Given the description of an element on the screen output the (x, y) to click on. 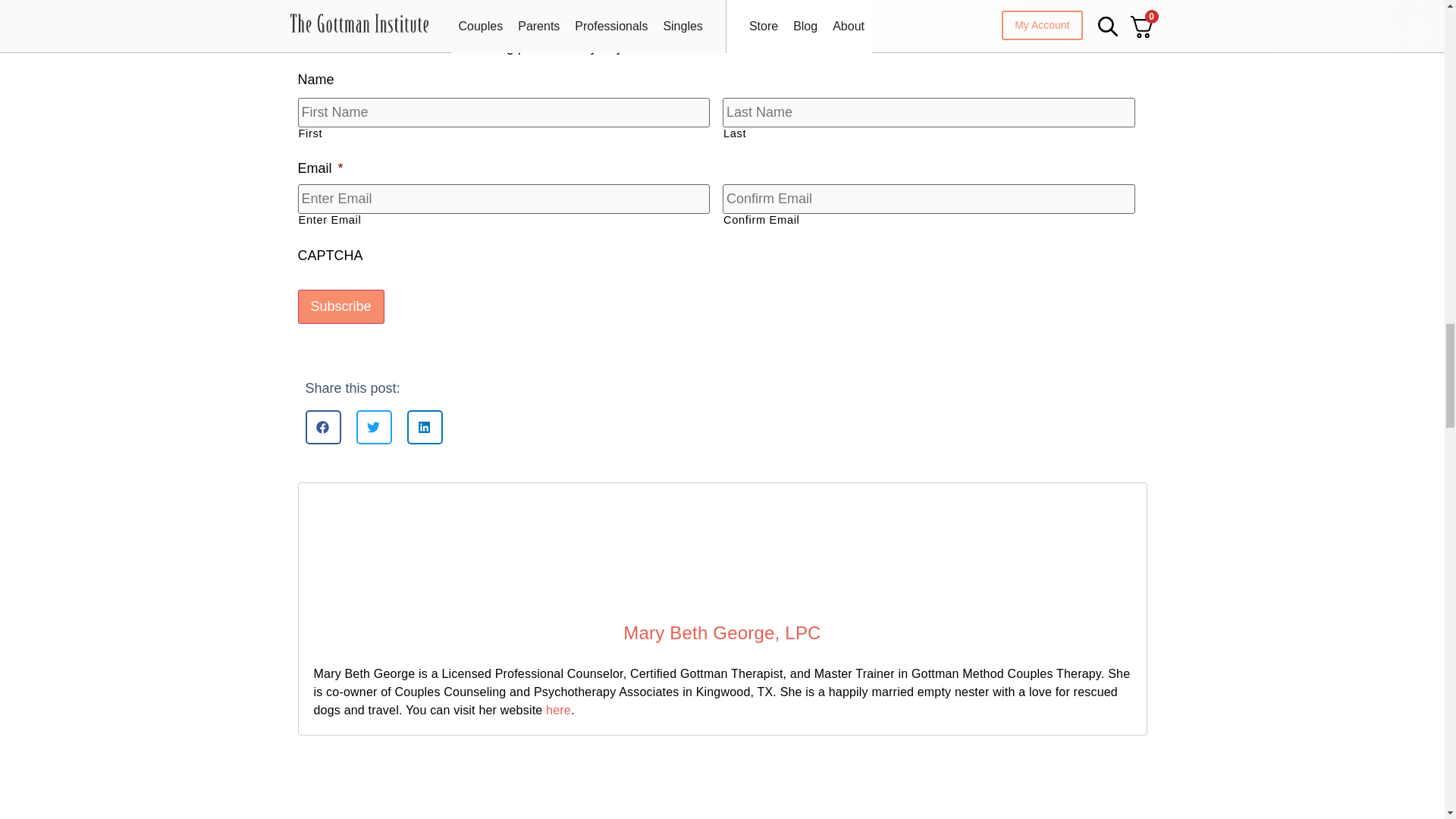
Subscribe (340, 306)
